Given the description of an element on the screen output the (x, y) to click on. 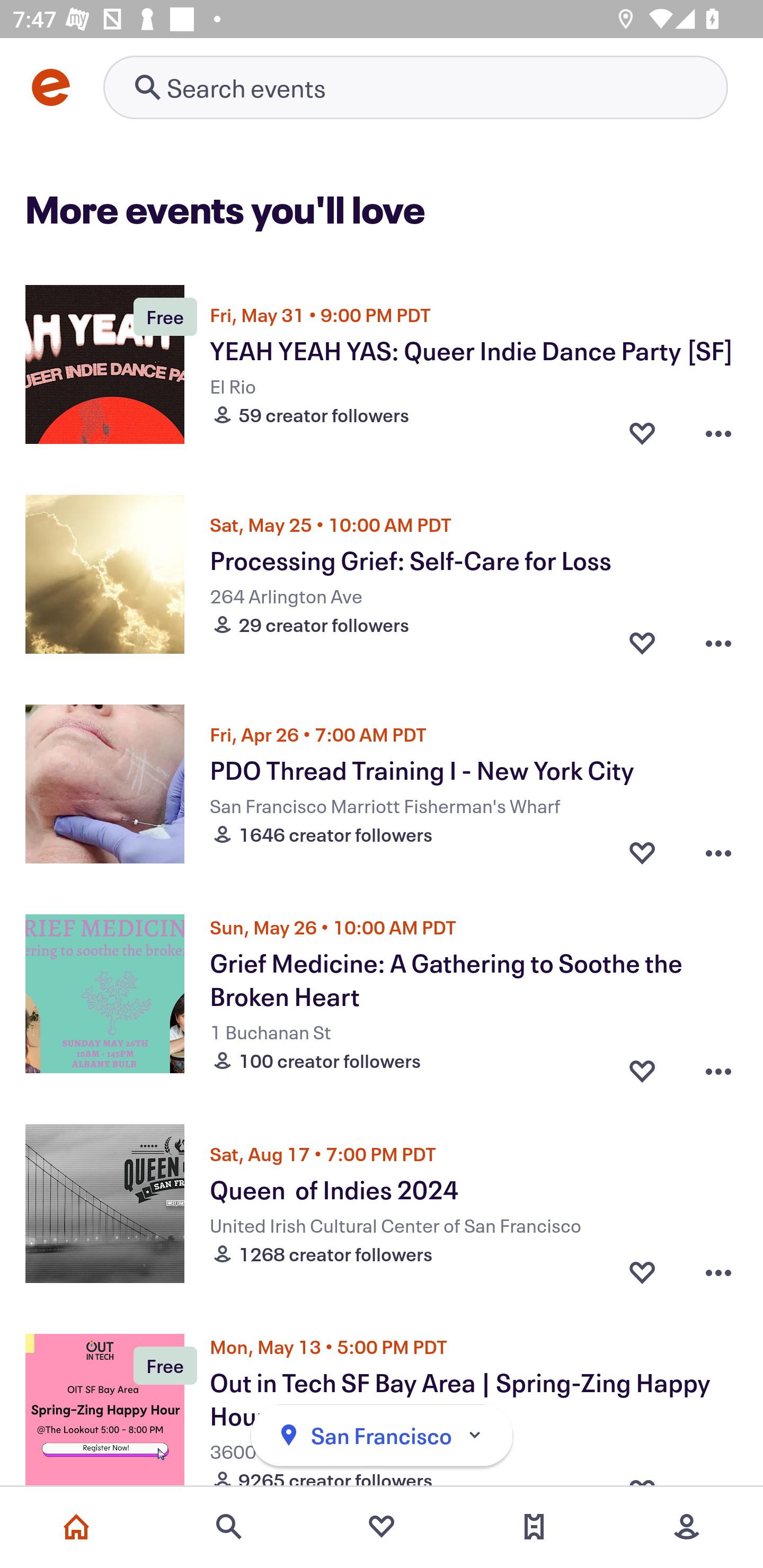
Retry's image Search events (415, 86)
Favorite button (642, 431)
Overflow menu button (718, 431)
Favorite button (642, 641)
Overflow menu button (718, 641)
Favorite button (642, 852)
Overflow menu button (718, 852)
Favorite button (642, 1066)
Overflow menu button (718, 1066)
Favorite button (642, 1271)
Overflow menu button (718, 1271)
San Francisco (381, 1435)
Home (76, 1526)
Search events (228, 1526)
Favorites (381, 1526)
Tickets (533, 1526)
More (686, 1526)
